Given the description of an element on the screen output the (x, y) to click on. 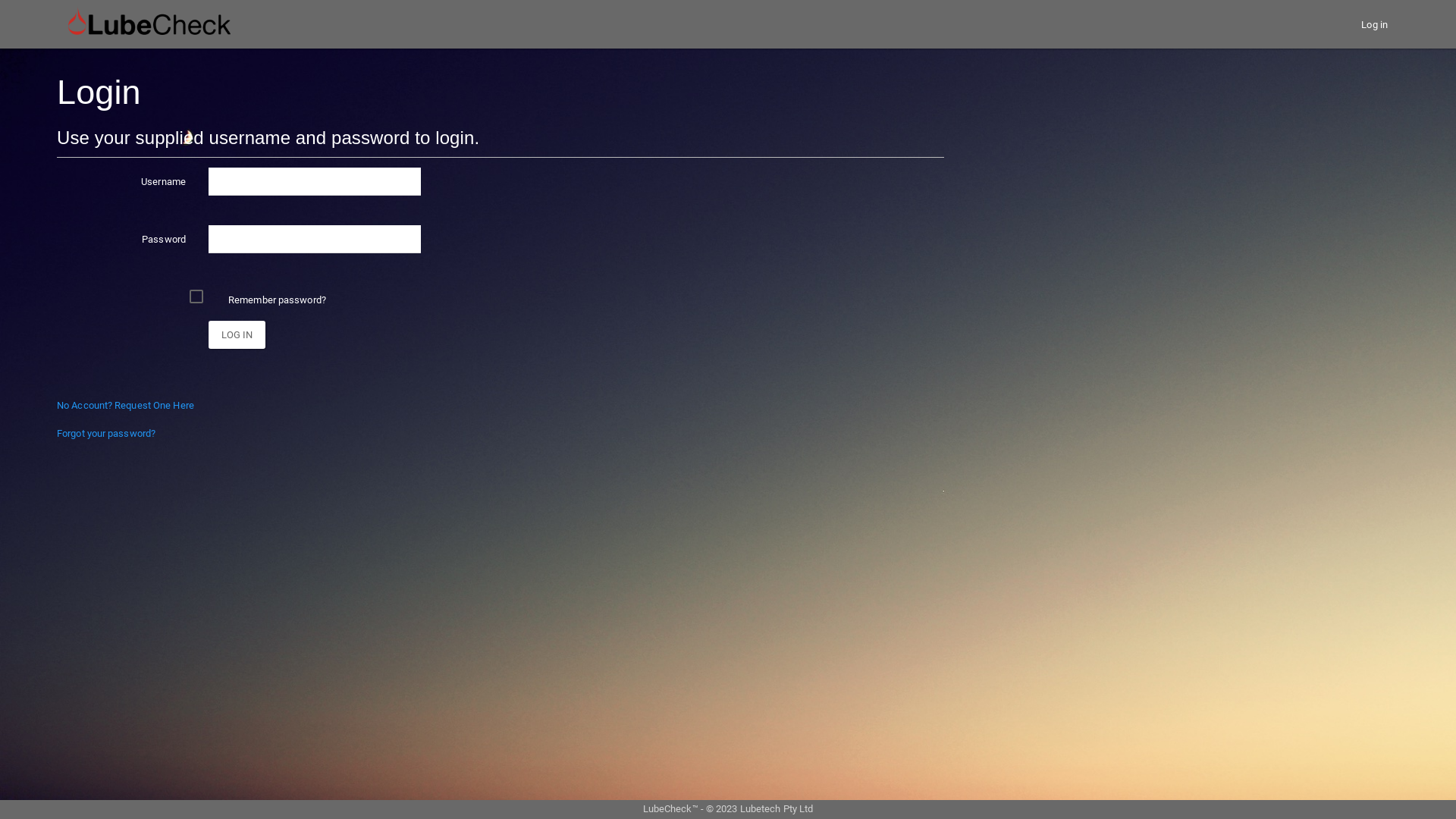
Log in Element type: text (1374, 24)
LubeCheck Element type: hover (148, 24)
No Account? Request One Here Element type: text (125, 405)
Log in Element type: text (236, 334)
Forgot your password? Element type: text (105, 433)
